Given the description of an element on the screen output the (x, y) to click on. 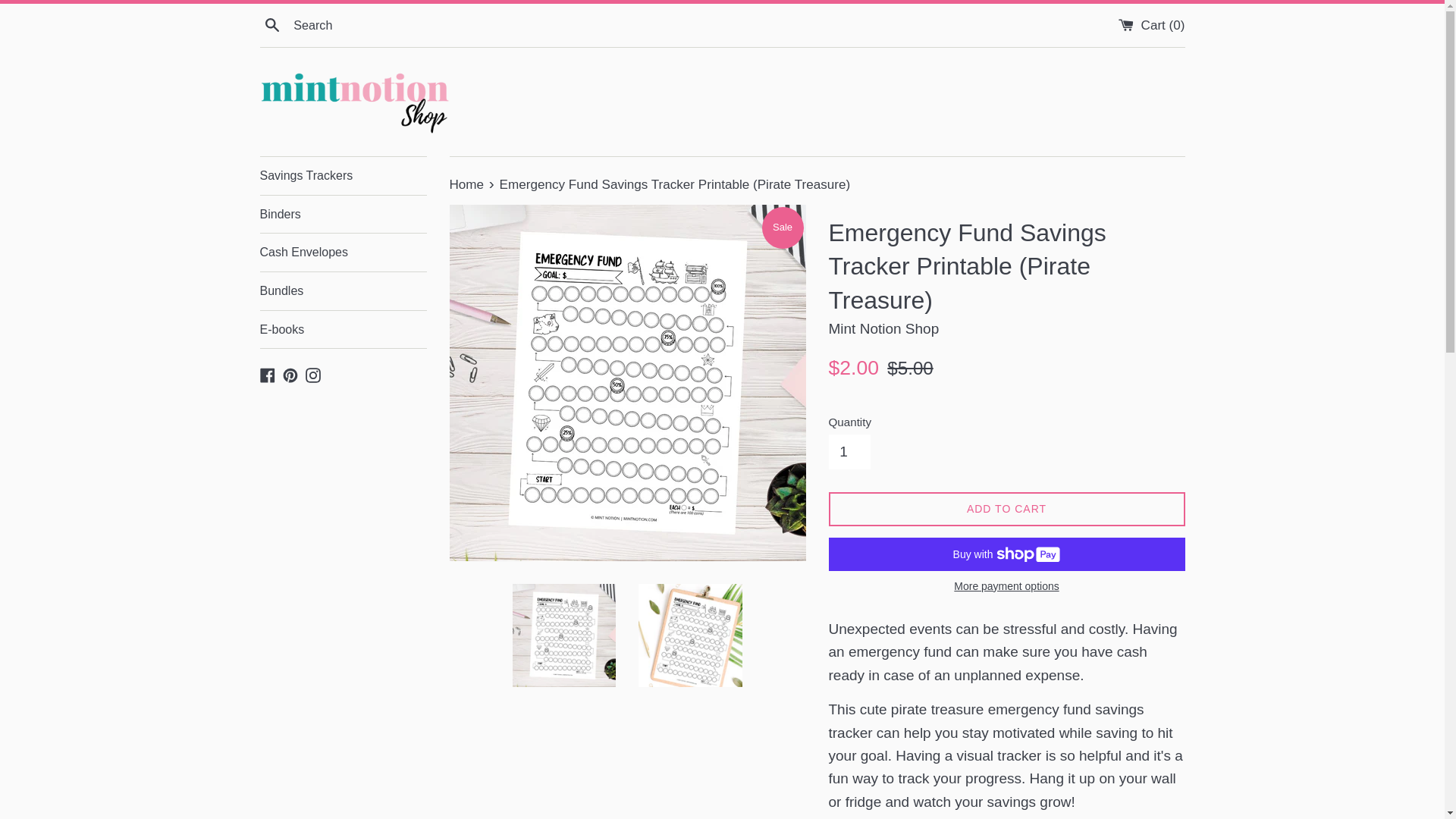
More payment options (1006, 586)
Savings Trackers (342, 175)
Bundles (342, 290)
Cash Envelopes (342, 252)
Search (271, 24)
Mint Notion Shop on Instagram (312, 374)
Home (467, 184)
Mint Notion Shop on Pinterest (290, 374)
Back to the frontpage (467, 184)
Instagram (312, 374)
Binders (342, 214)
Facebook (267, 374)
E-books (342, 329)
ADD TO CART (1006, 509)
Mint Notion Shop on Facebook (267, 374)
